Given the description of an element on the screen output the (x, y) to click on. 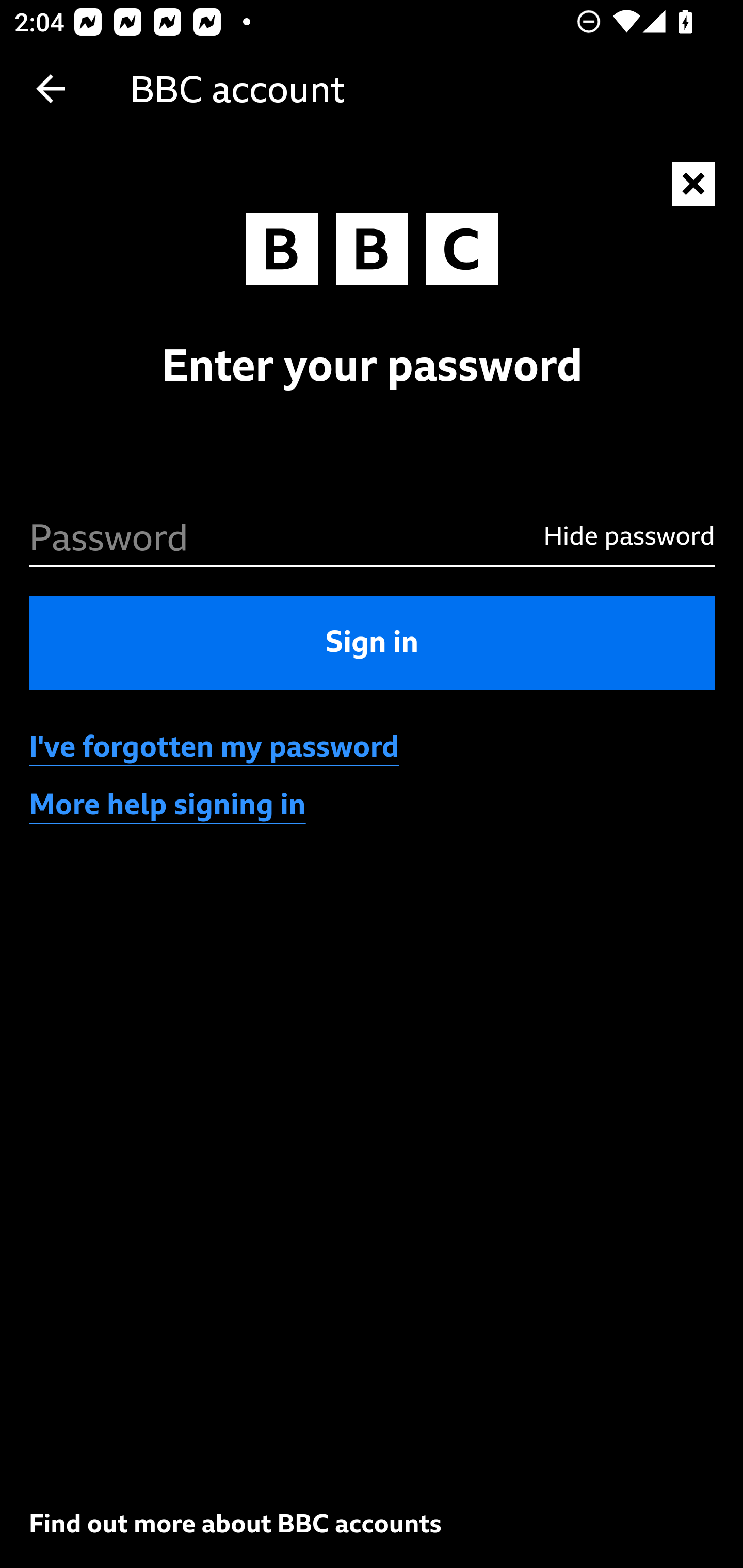
Close and return to where you originally came from (694, 184)
Go to the BBC Homepage (371, 253)
Hide password (616, 535)
Sign in (372, 641)
I've forgotten my password (214, 747)
More help signing in (167, 805)
Find out more about BBC accounts (235, 1522)
